Given the description of an element on the screen output the (x, y) to click on. 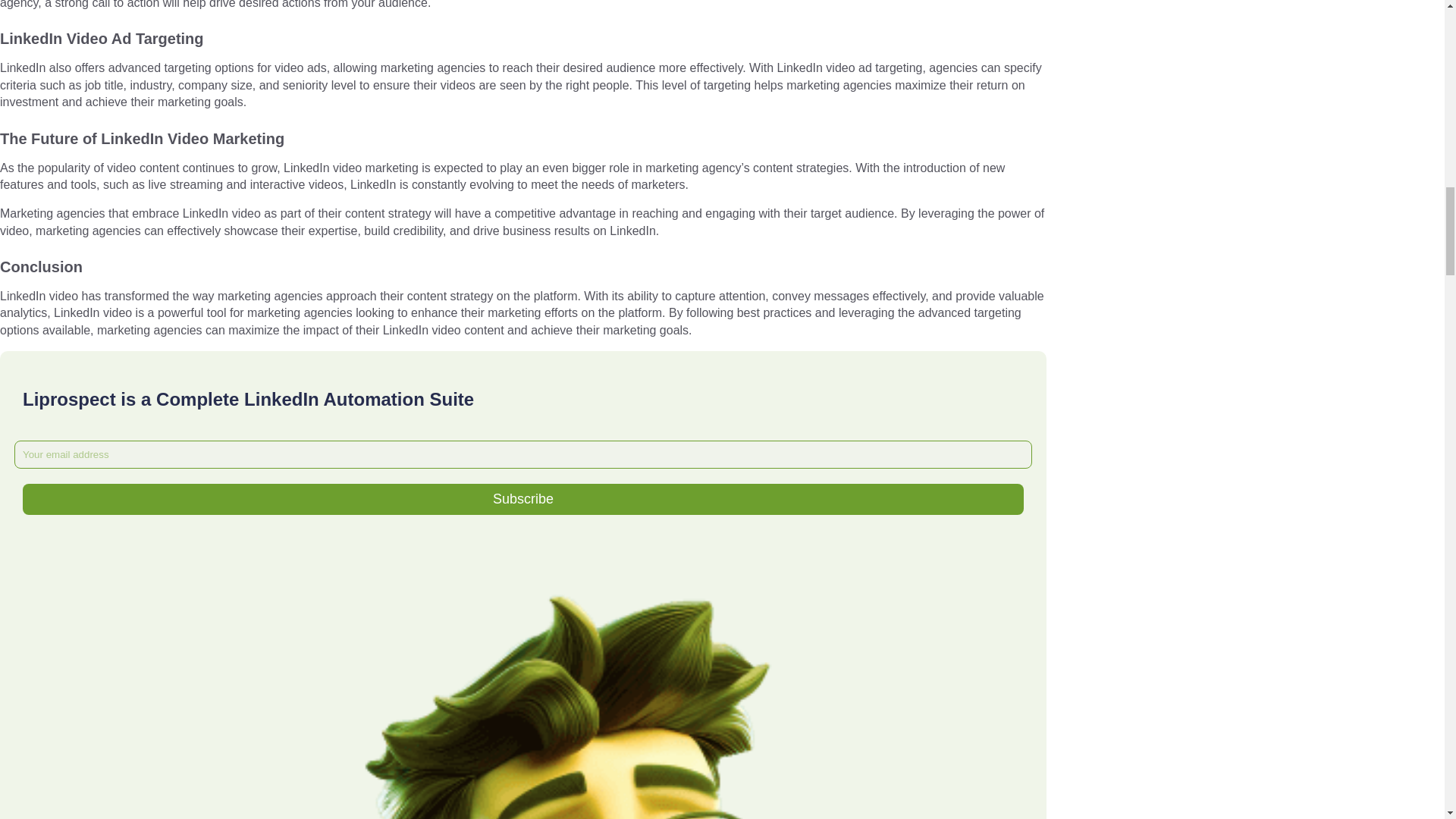
Subscribe (523, 499)
